Given the description of an element on the screen output the (x, y) to click on. 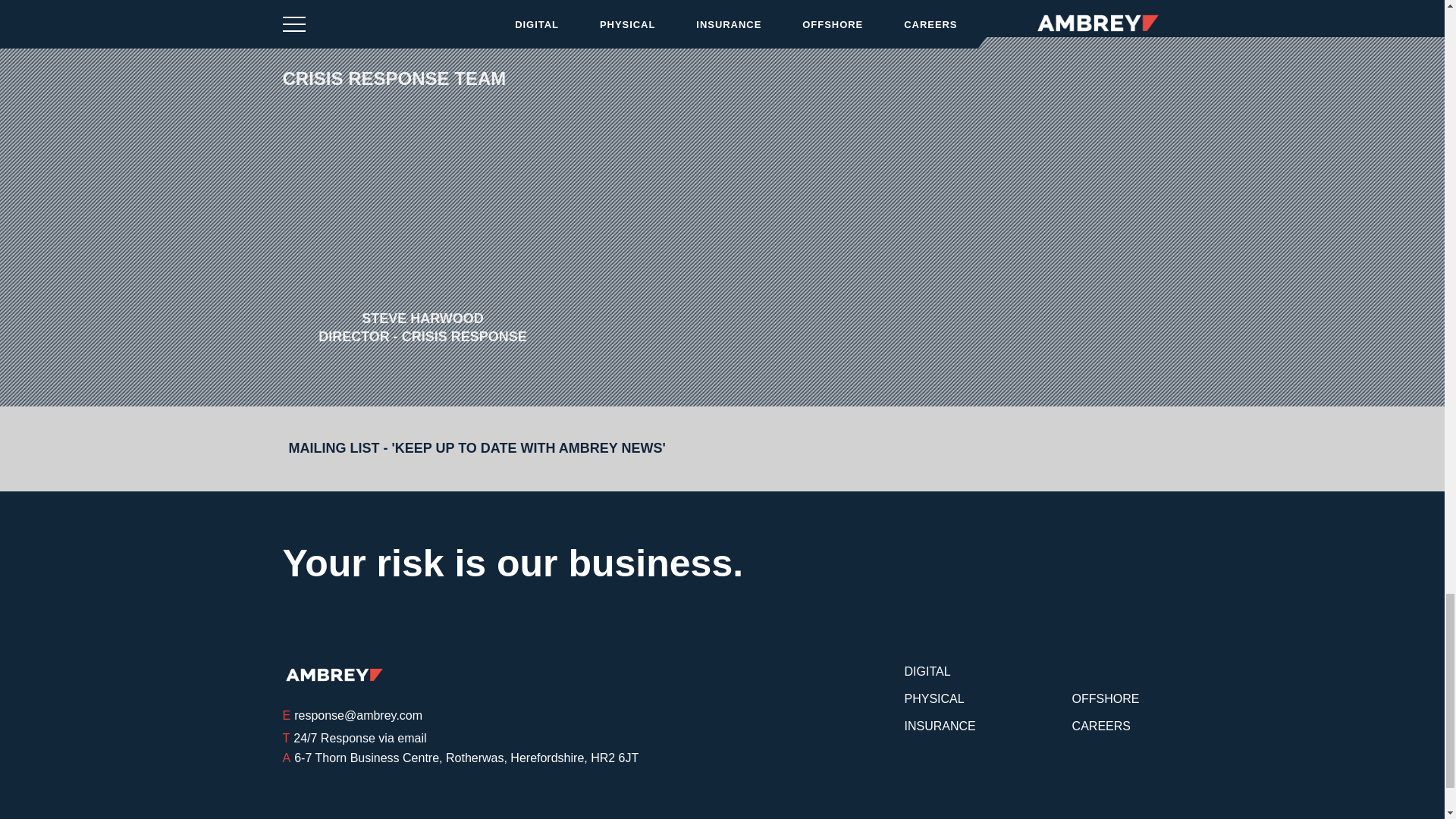
CAREERS (1101, 725)
MAILING LIST - 'KEEP UP TO DATE WITH AMBREY NEWS' (494, 448)
INSURANCE (939, 725)
DIGITAL (927, 670)
PHYSICAL (933, 697)
OFFSHORE (1105, 697)
